Given the description of an element on the screen output the (x, y) to click on. 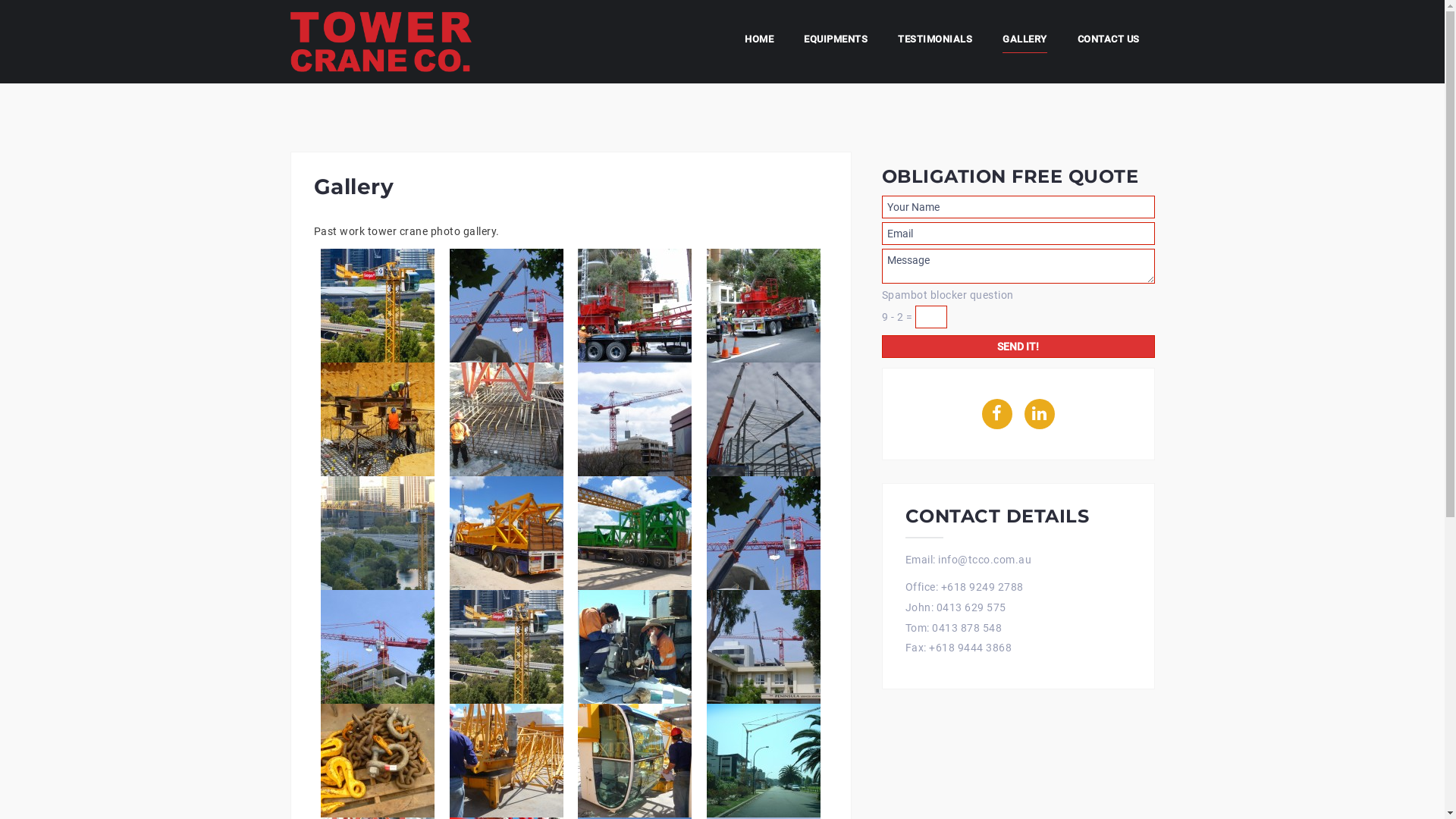
GALLERY Element type: text (1024, 41)
Send it! Element type: text (1017, 346)
HOME Element type: text (758, 41)
CONTACT US Element type: text (1107, 41)
Tower Crane Rental Perth Element type: hover (379, 40)
Facebook Element type: text (996, 413)
Skip to content Element type: text (0, 0)
EQUIPMENTS Element type: text (835, 41)
TESTIMONIALS Element type: text (934, 41)
Linkedin Element type: text (1038, 413)
